Given the description of an element on the screen output the (x, y) to click on. 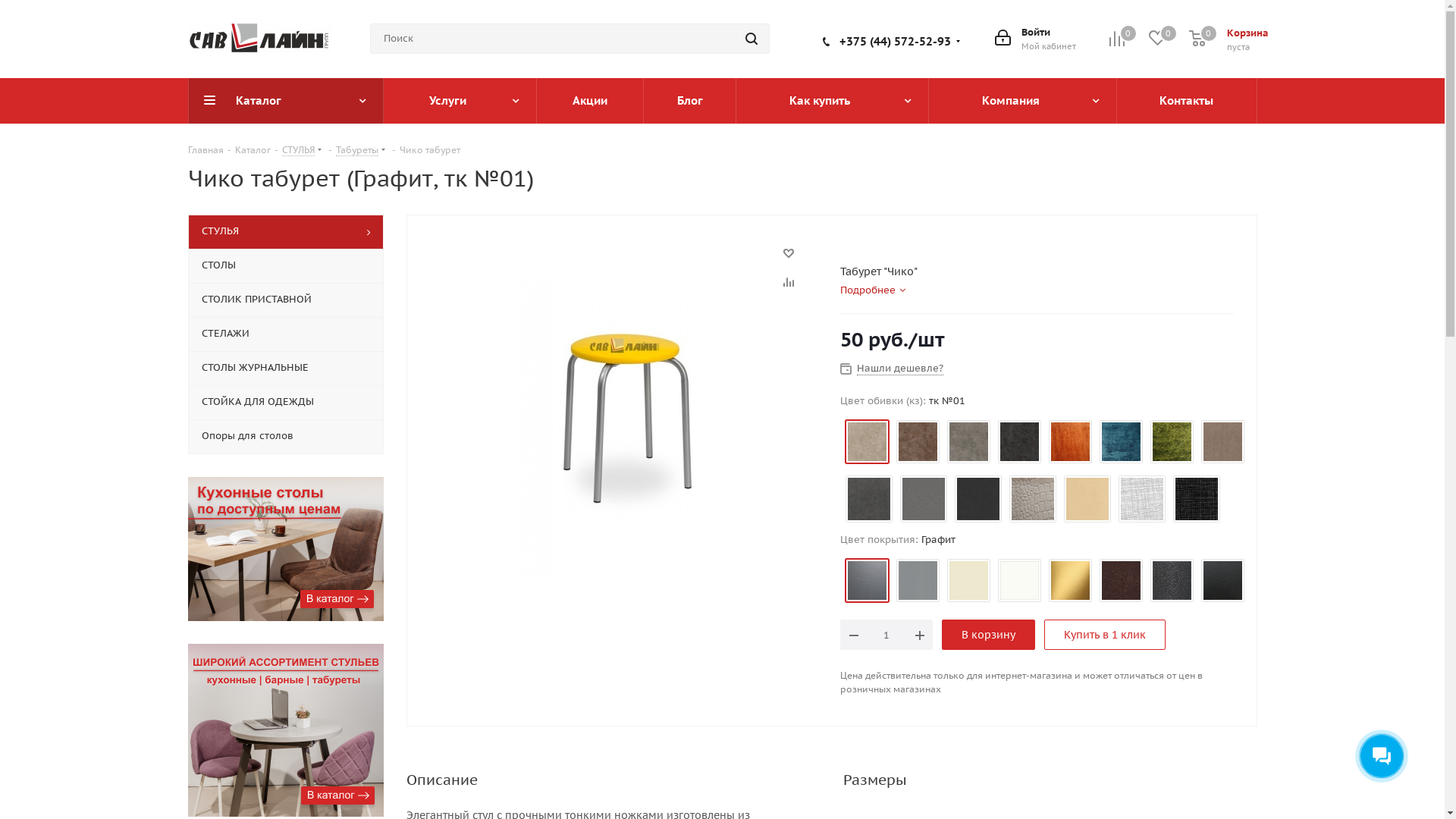
+375 (44) 572-52-93 Element type: text (894, 40)
